Given the description of an element on the screen output the (x, y) to click on. 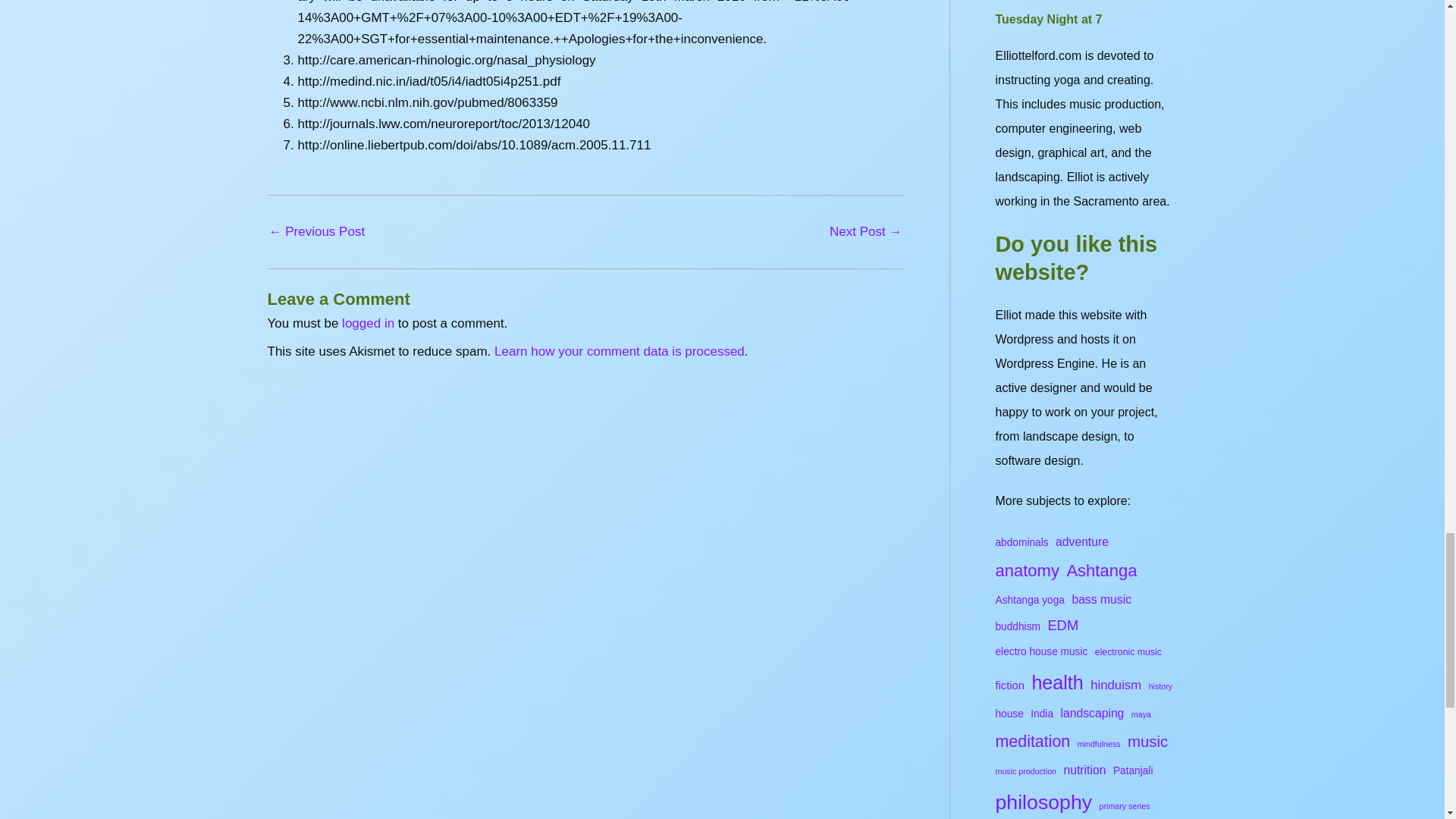
The Wanderer, Part 31 (316, 231)
The Wanderer, Part 32 (865, 231)
